Given the description of an element on the screen output the (x, y) to click on. 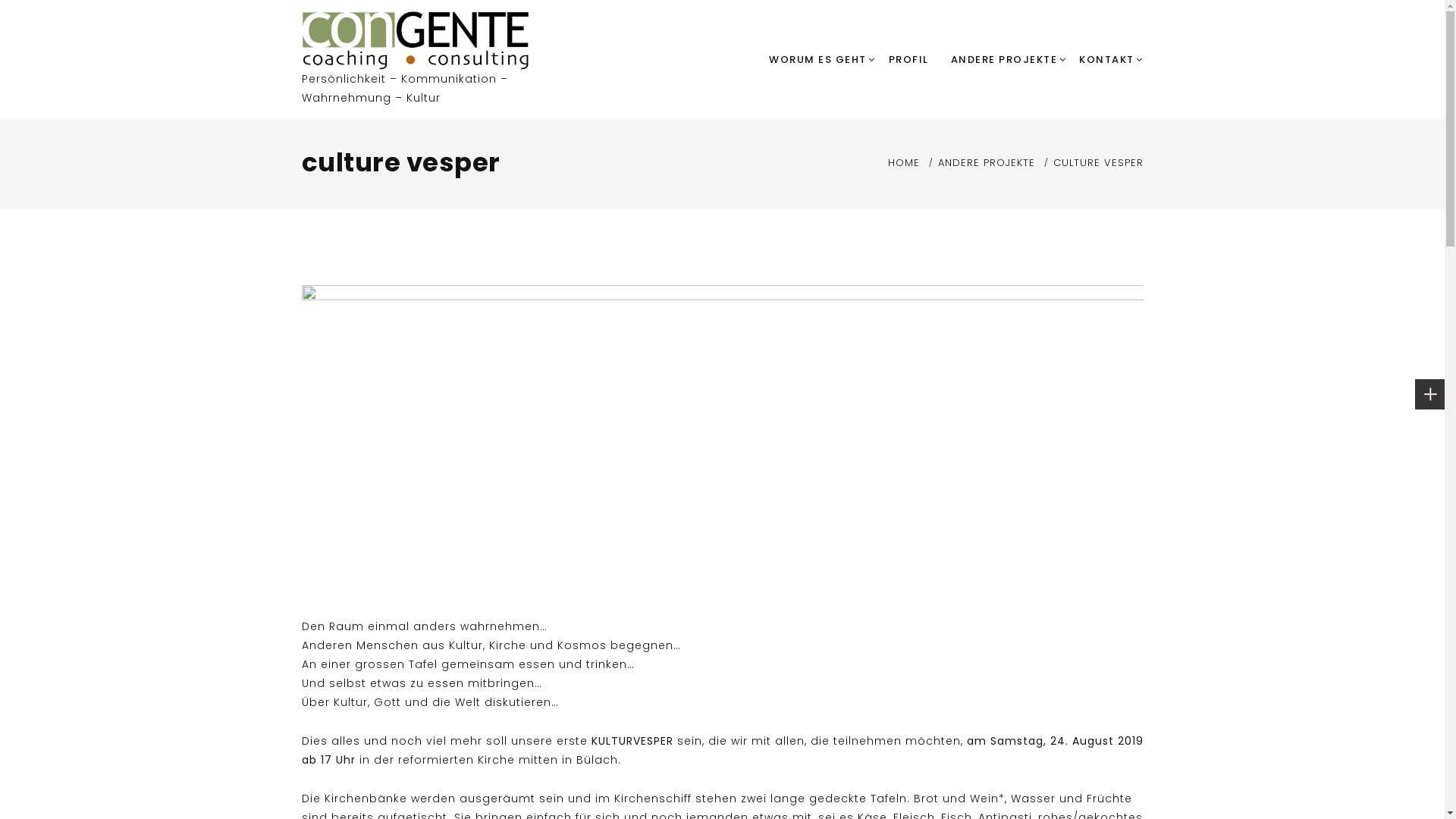
Suche Element type: text (833, 347)
PROFIL Element type: text (908, 59)
ANDERE PROJEKTE Element type: text (1003, 59)
ANDERE PROJEKTE Element type: text (985, 162)
KONTAKT Element type: text (1106, 59)
WORUM ES GEHT Element type: text (817, 59)
HOME Element type: text (903, 162)
CULTURE VESPER Element type: text (1097, 162)
